Given the description of an element on the screen output the (x, y) to click on. 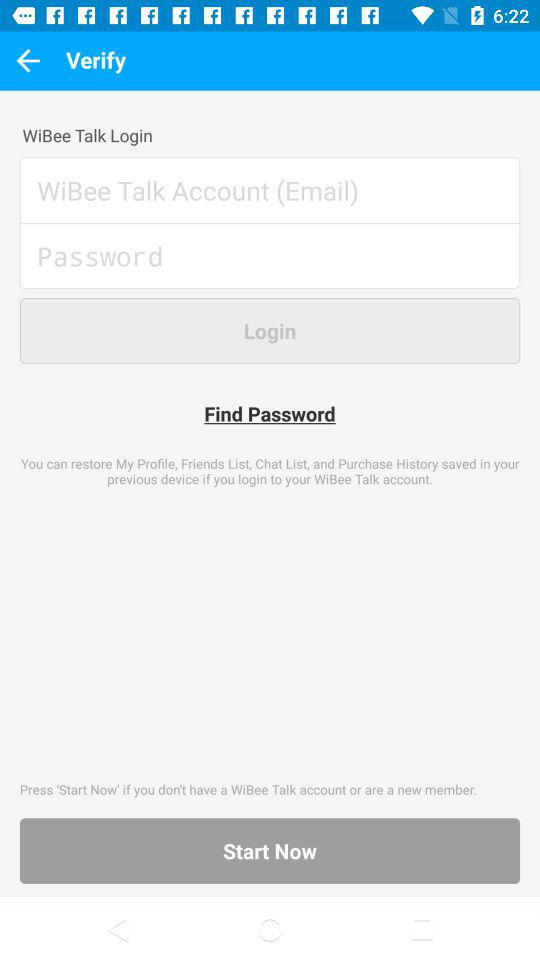
click on the button which is above find password (269, 330)
select the 2nd text field on the web page (269, 265)
